Given the description of an element on the screen output the (x, y) to click on. 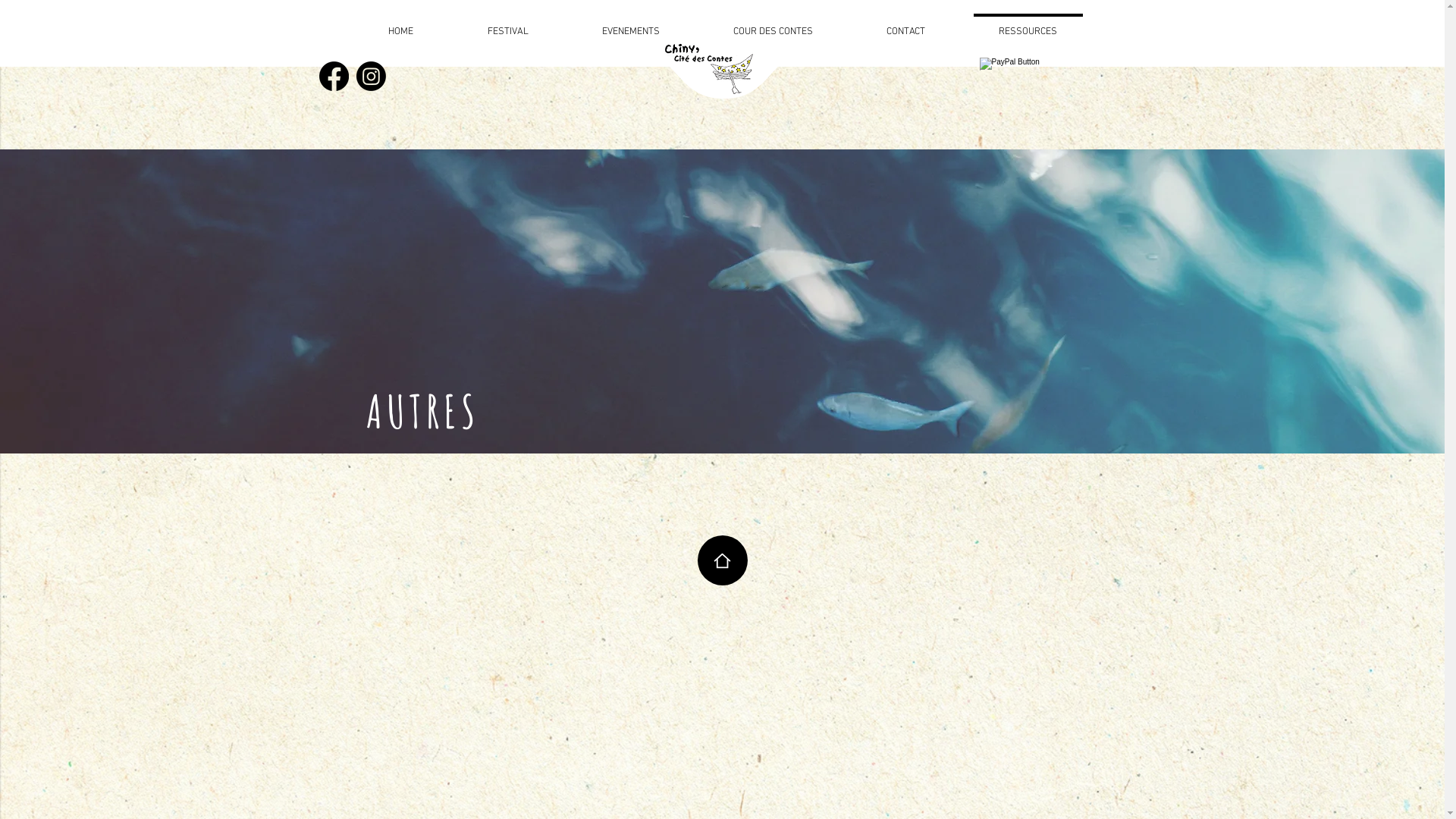
COUR DES CONTES Element type: text (772, 24)
CONTACT Element type: text (905, 24)
FESTIVAL Element type: text (507, 24)
RESSOURCES Element type: text (1027, 24)
HOME Element type: text (399, 24)
EVENEMENTS Element type: text (630, 24)
